Given the description of an element on the screen output the (x, y) to click on. 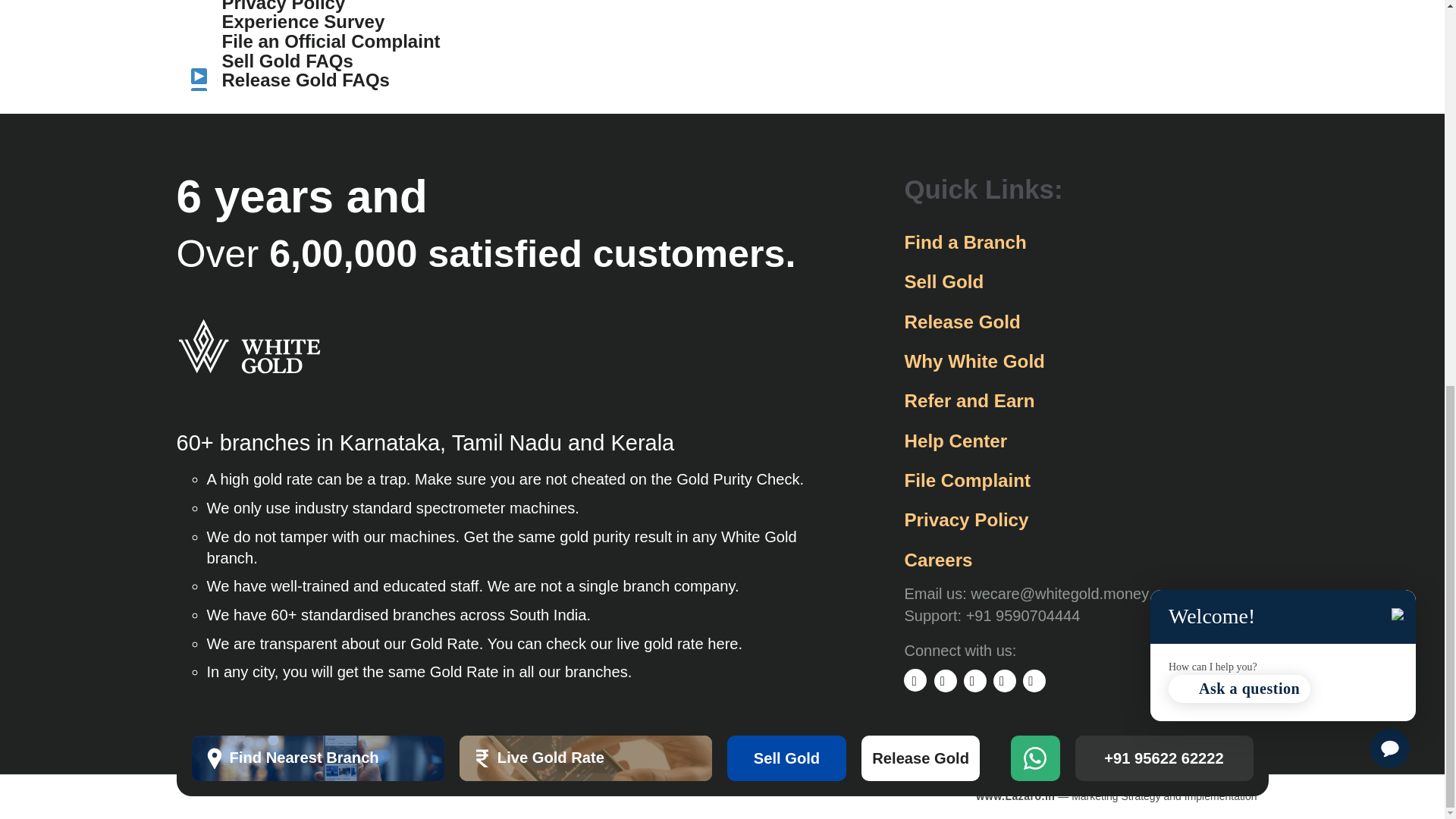
Privacy Policy (342, 6)
Sell Gold (785, 29)
Release Gold (920, 29)
